Given the description of an element on the screen output the (x, y) to click on. 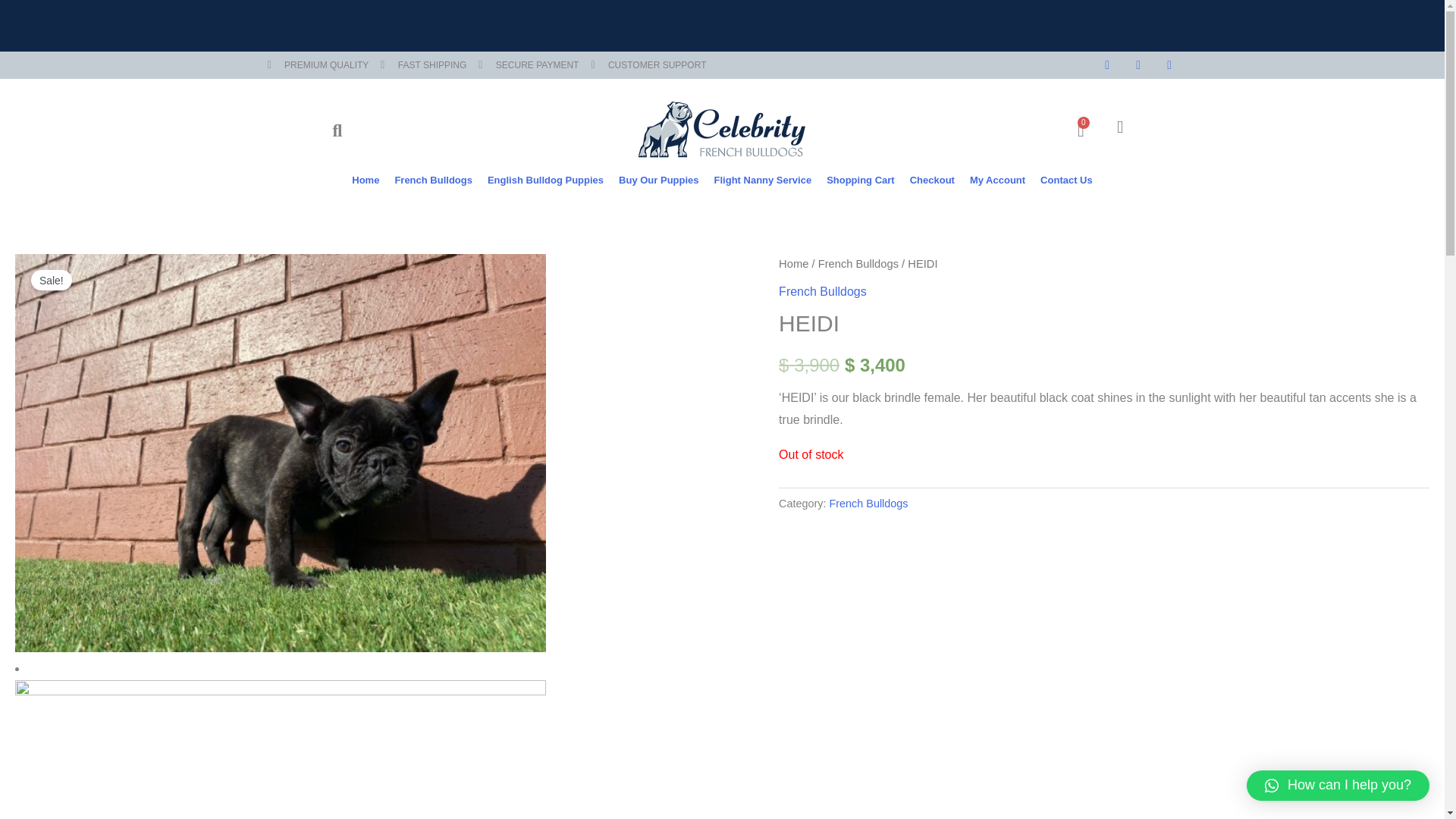
Buy Our Puppies (657, 180)
Checkout (931, 180)
Shopping Cart (860, 180)
French Bulldogs (1079, 130)
My Account (432, 180)
English Bulldog Puppies (997, 180)
Home (544, 180)
Contact Us (365, 180)
Flight Nanny Service (1066, 180)
